Given the description of an element on the screen output the (x, y) to click on. 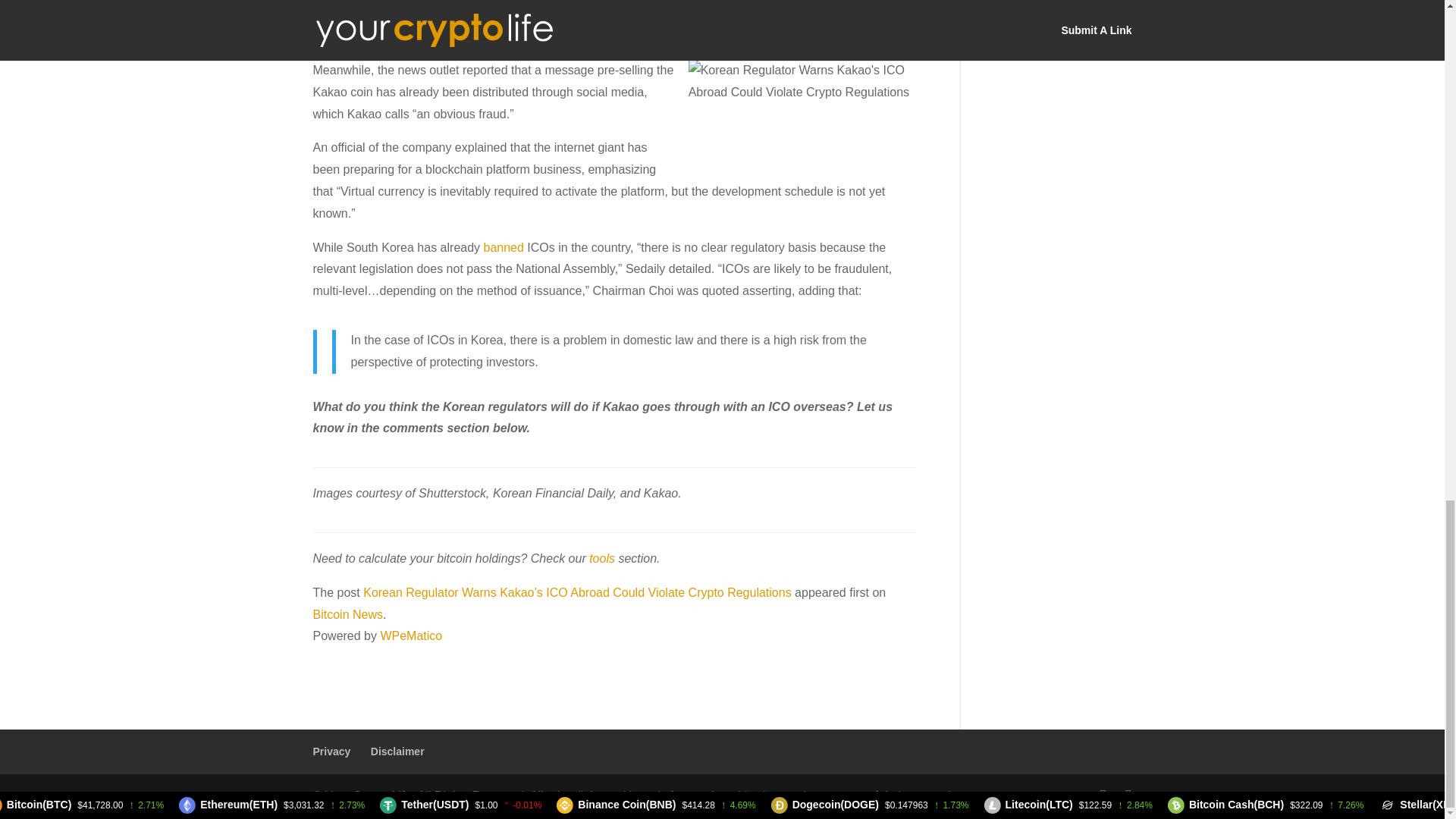
WPeMatico (411, 635)
Disclaimer (398, 751)
tools (601, 558)
Bitcoin News (347, 614)
banned (503, 246)
Privacy (331, 751)
